Given the description of an element on the screen output the (x, y) to click on. 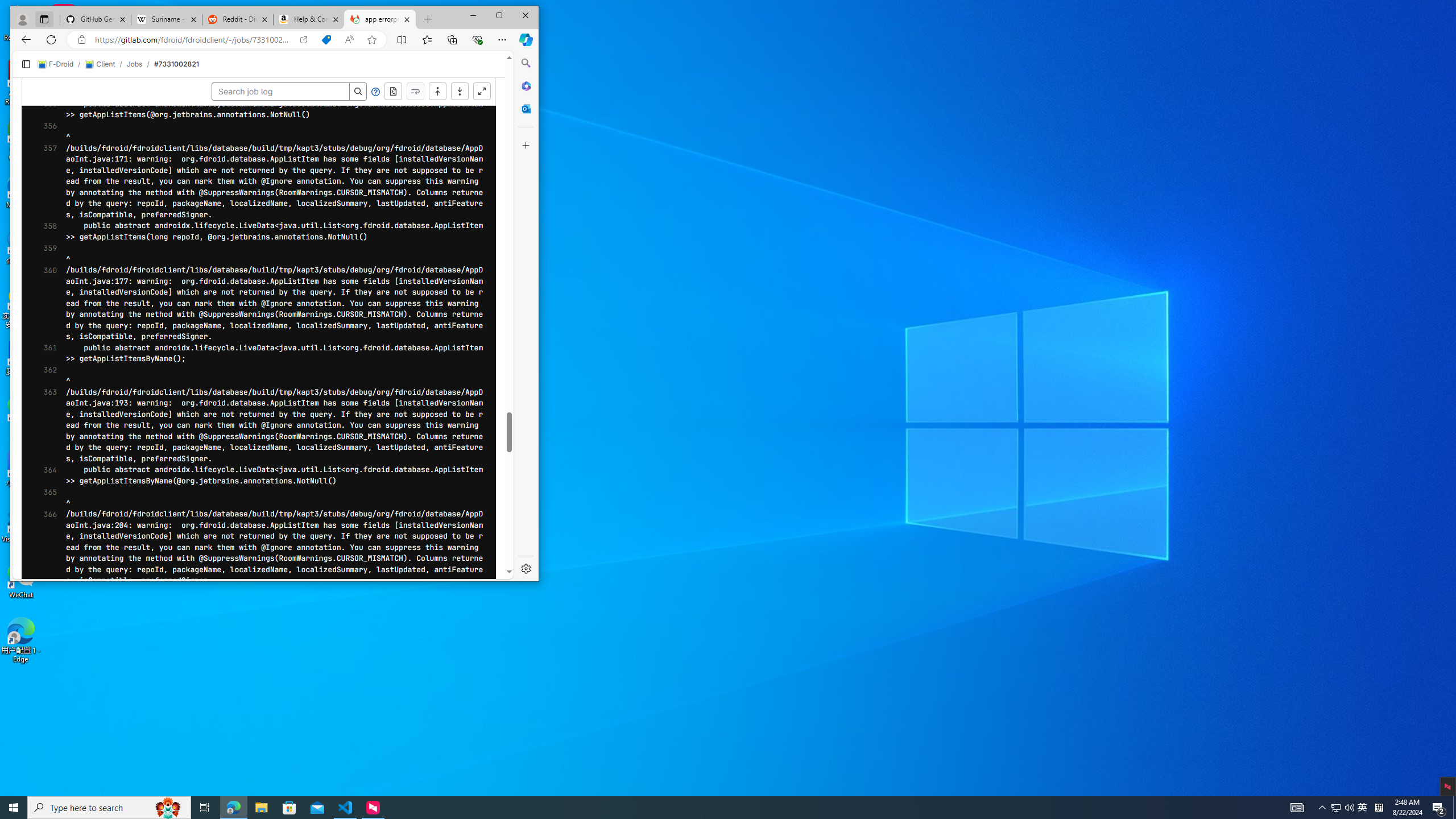
Visual Studio Code - 1 running window (345, 807)
Scroll to top (437, 91)
360 (47, 303)
361 (47, 353)
Q2790: 100% (1349, 807)
Client/ (105, 63)
Search job log (280, 91)
Search highlights icon opens search home window (167, 807)
Jobs/ (140, 63)
